Given the description of an element on the screen output the (x, y) to click on. 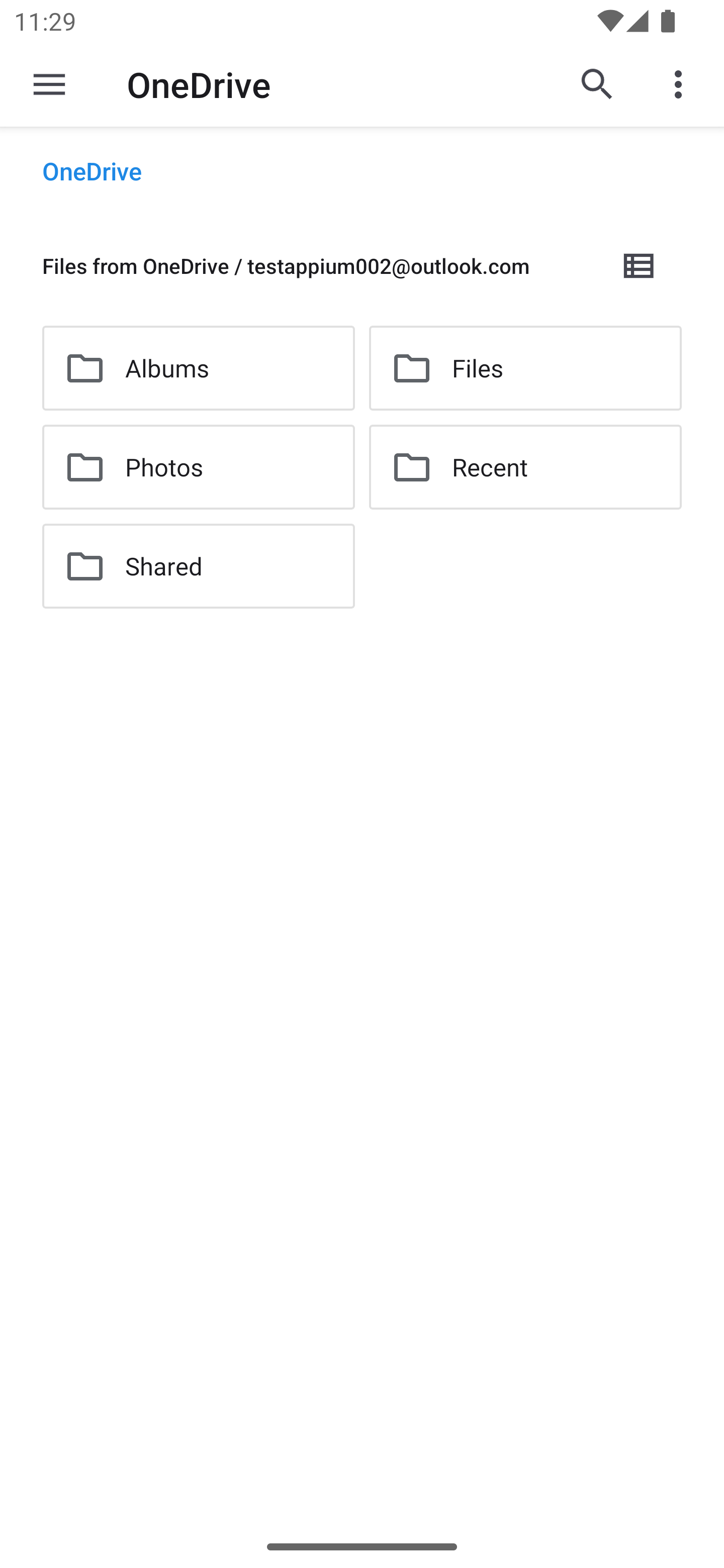
Show roots (49, 84)
Search (597, 84)
More options (681, 84)
List view (639, 265)
Albums (197, 368)
Files (525, 368)
Photos (197, 466)
Recent (525, 466)
Shared (197, 565)
